Given the description of an element on the screen output the (x, y) to click on. 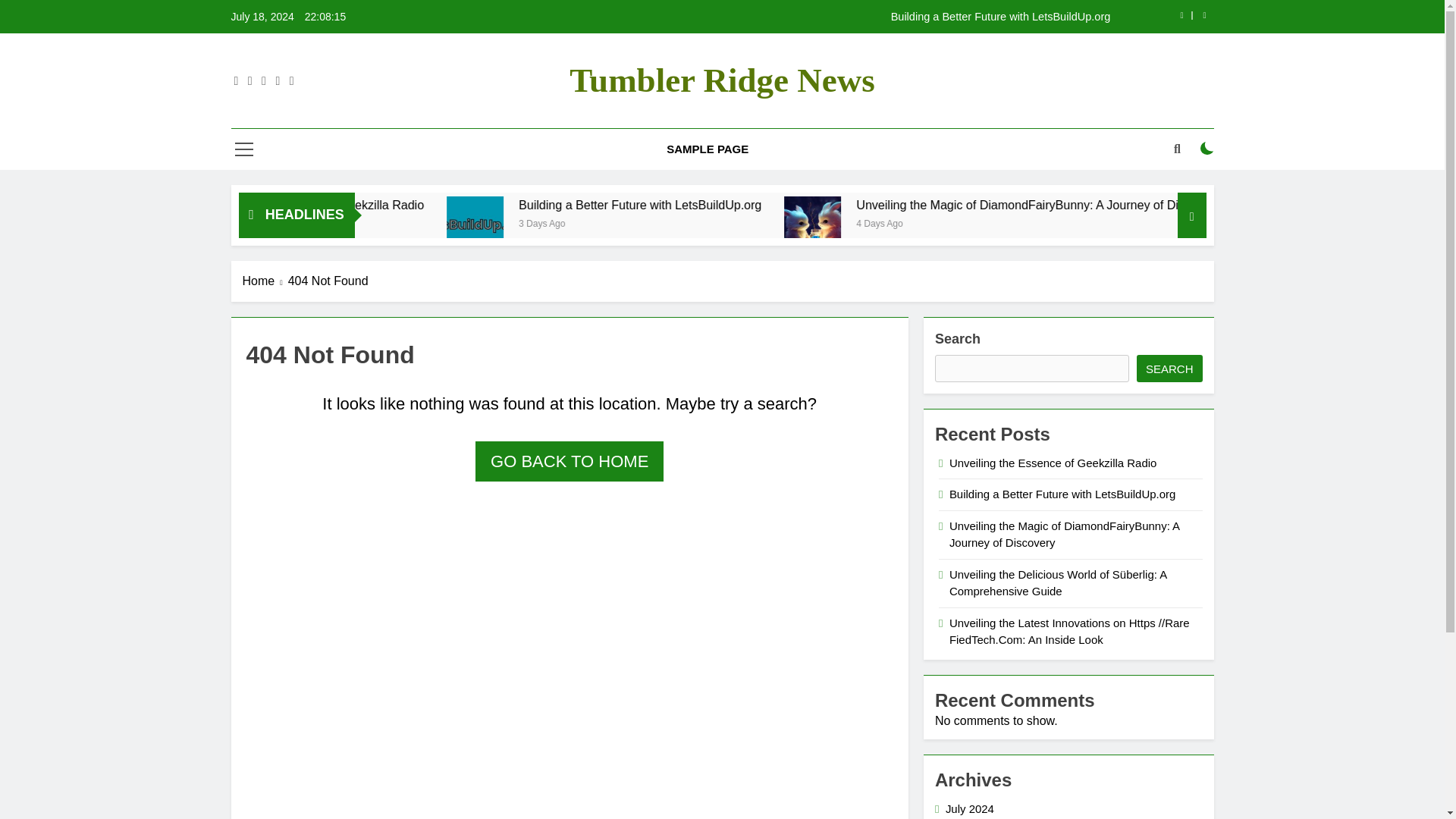
Building a Better Future with LetsBuildUp.org (622, 224)
Unveiling the Essence of Geekzilla Radio (503, 205)
4 Days Ago (1056, 222)
Building a Better Future with LetsBuildUp.org (817, 16)
Building a Better Future with LetsBuildUp.org (824, 205)
on (1206, 148)
3 Days Ago (414, 222)
3 Days Ago (724, 222)
Building a Better Future with LetsBuildUp.org (619, 224)
Building a Better Future with LetsBuildUp.org (781, 205)
Unveiling the Essence of Geekzilla Radio (461, 205)
SAMPLE PAGE (707, 148)
